Given the description of an element on the screen output the (x, y) to click on. 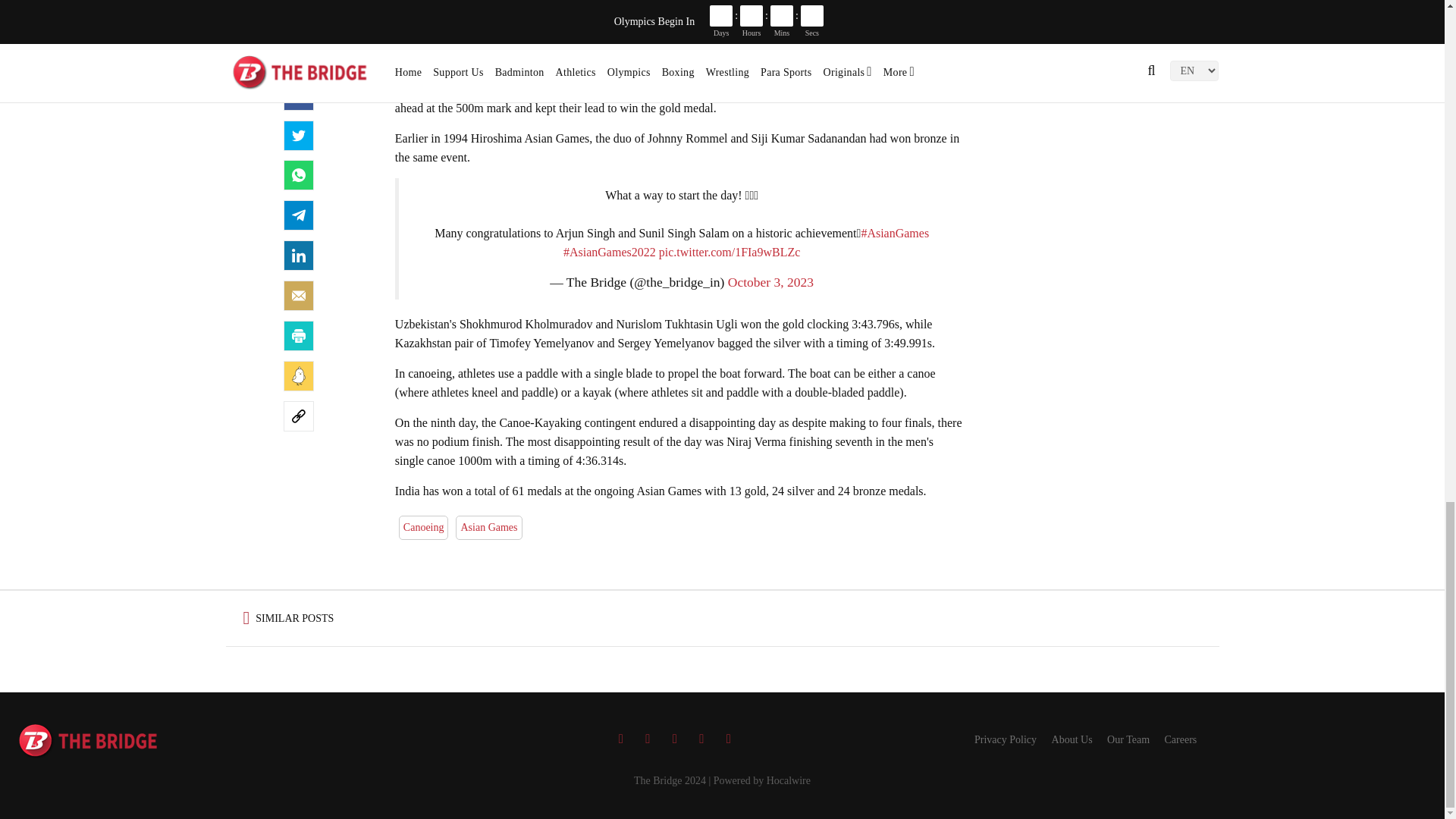
LinkedIn (298, 255)
Share by Email (298, 295)
